Given the description of an element on the screen output the (x, y) to click on. 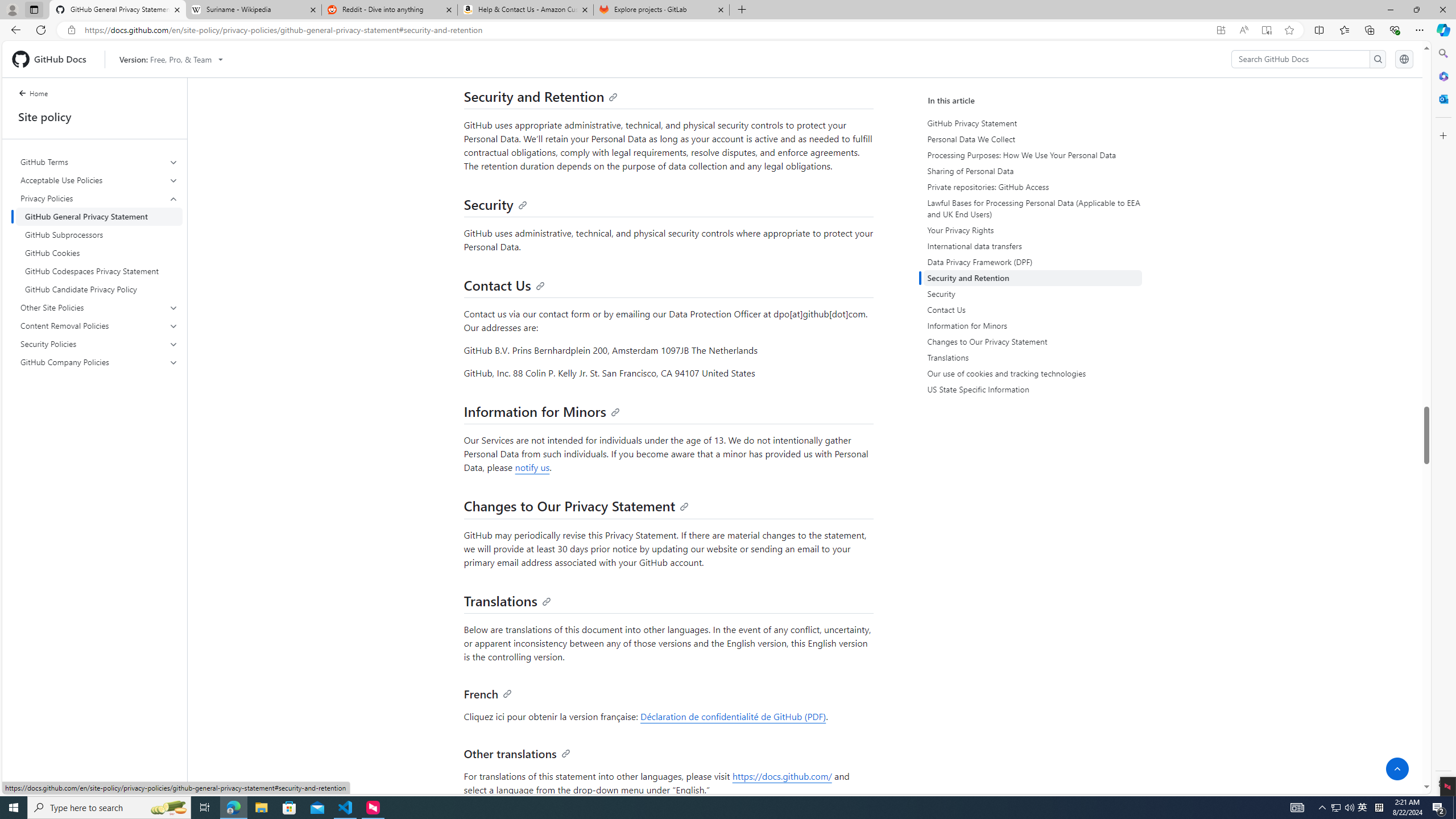
notify us (532, 467)
Data Privacy Framework (DPF) (1032, 261)
GitHub Subprocessors (99, 235)
Suriname - Wikipedia (253, 9)
App available. Install GitHub Docs (1220, 29)
Private repositories: GitHub Access (1032, 186)
GitHub Cookies (99, 253)
GitHub General Privacy Statement (99, 216)
GitHub Terms (99, 162)
GitHub Subprocessors (99, 235)
Site policy (94, 116)
Your Privacy Rights (1032, 230)
